Given the description of an element on the screen output the (x, y) to click on. 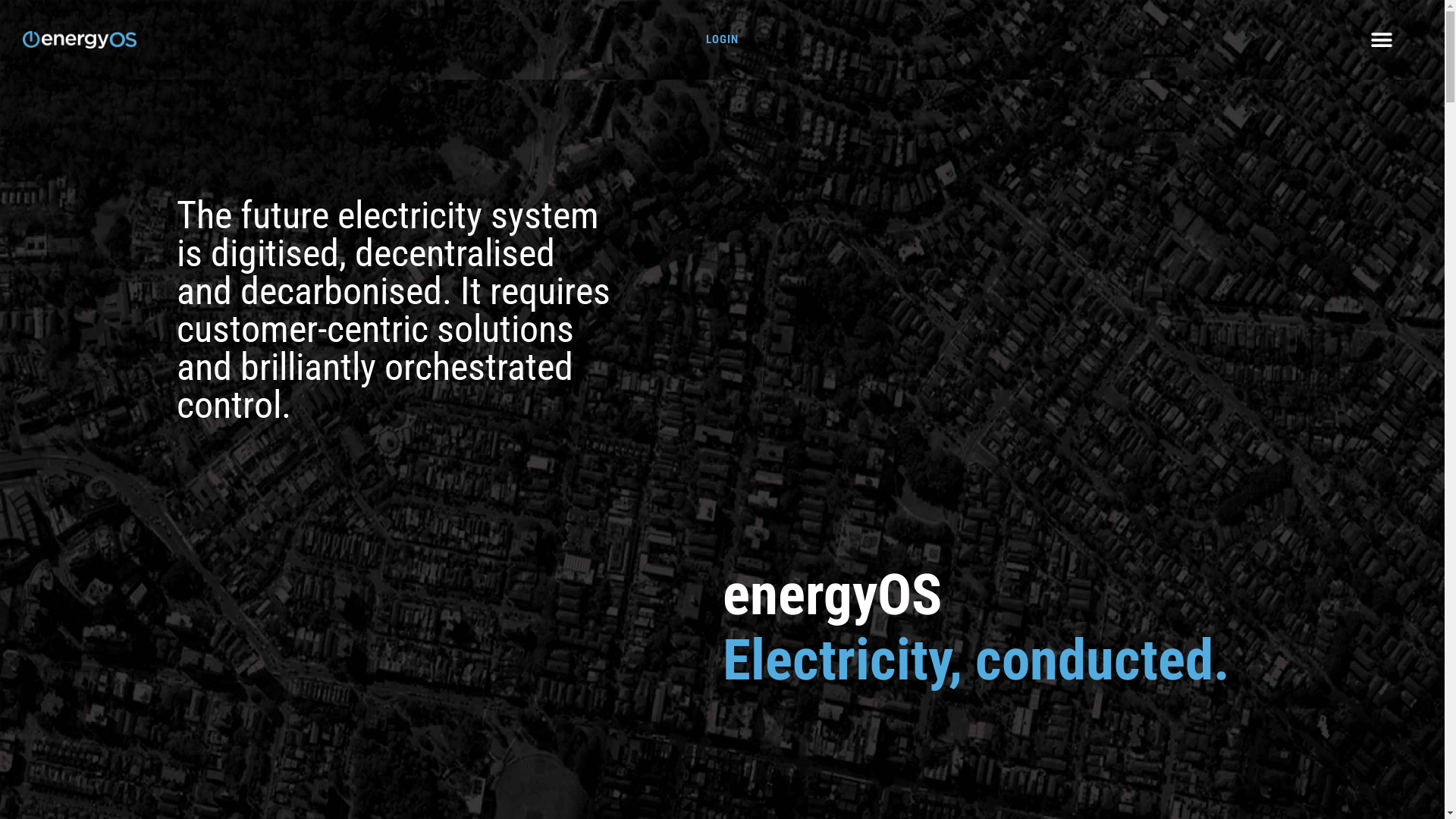
LOGIN Element type: text (722, 39)
